Given the description of an element on the screen output the (x, y) to click on. 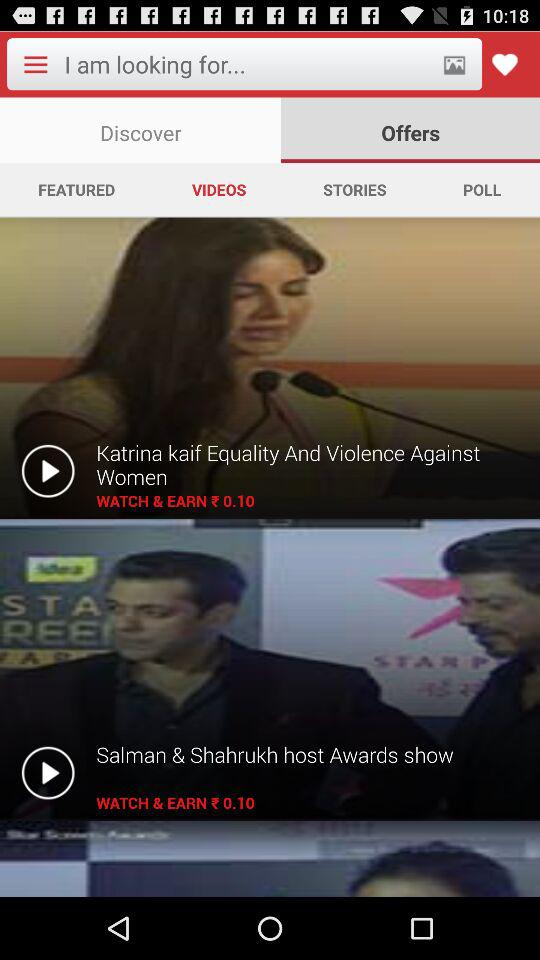
turn off icon next to poll (354, 189)
